Given the description of an element on the screen output the (x, y) to click on. 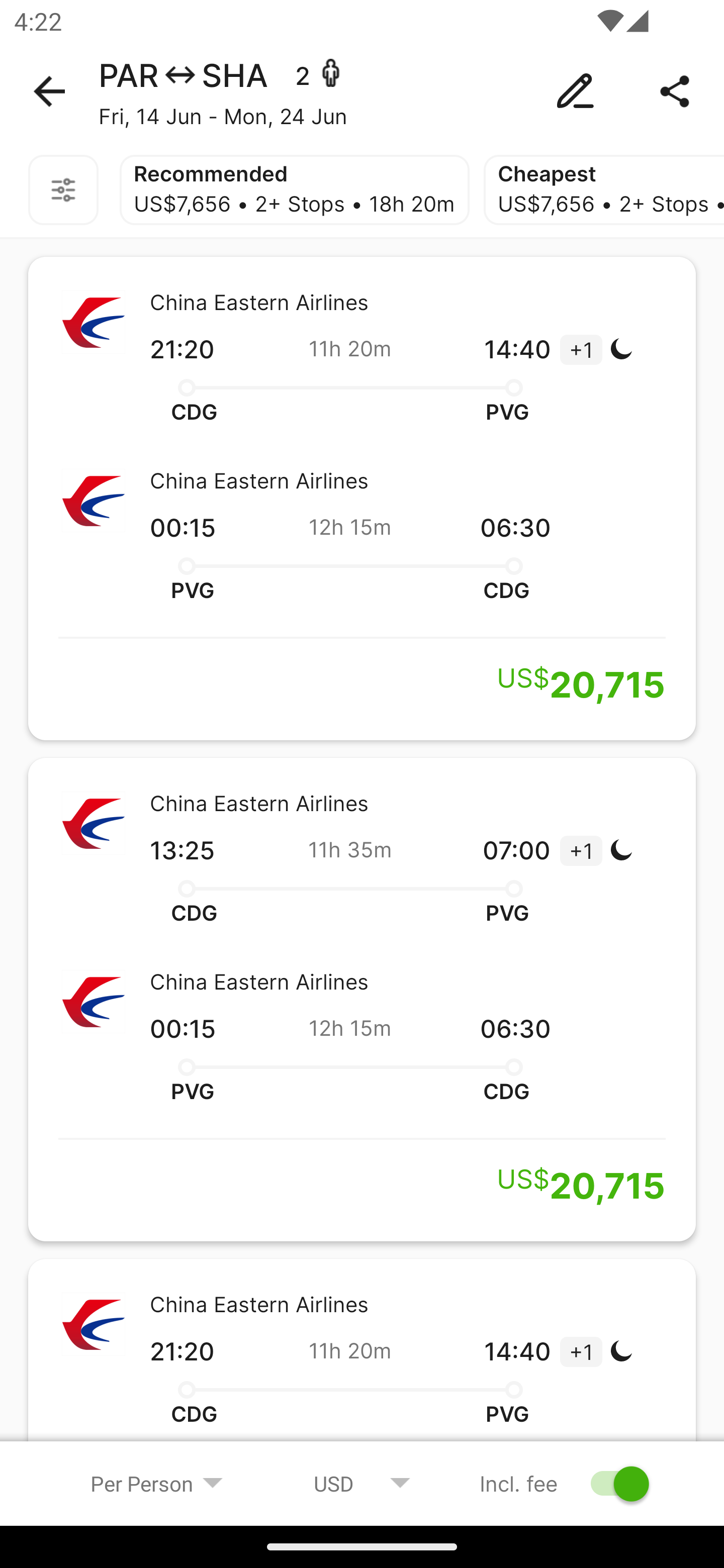
PAR SHA   2 - Fri, 14 Jun - Mon, 24 Jun (361, 91)
Recommended  US$7,656 • 2+ Stops • 18h 20m (294, 190)
Cheapest US$7,656 • 2+ Stops • 18h 35m (603, 190)
Per Person (156, 1482)
USD (361, 1482)
